Given the description of an element on the screen output the (x, y) to click on. 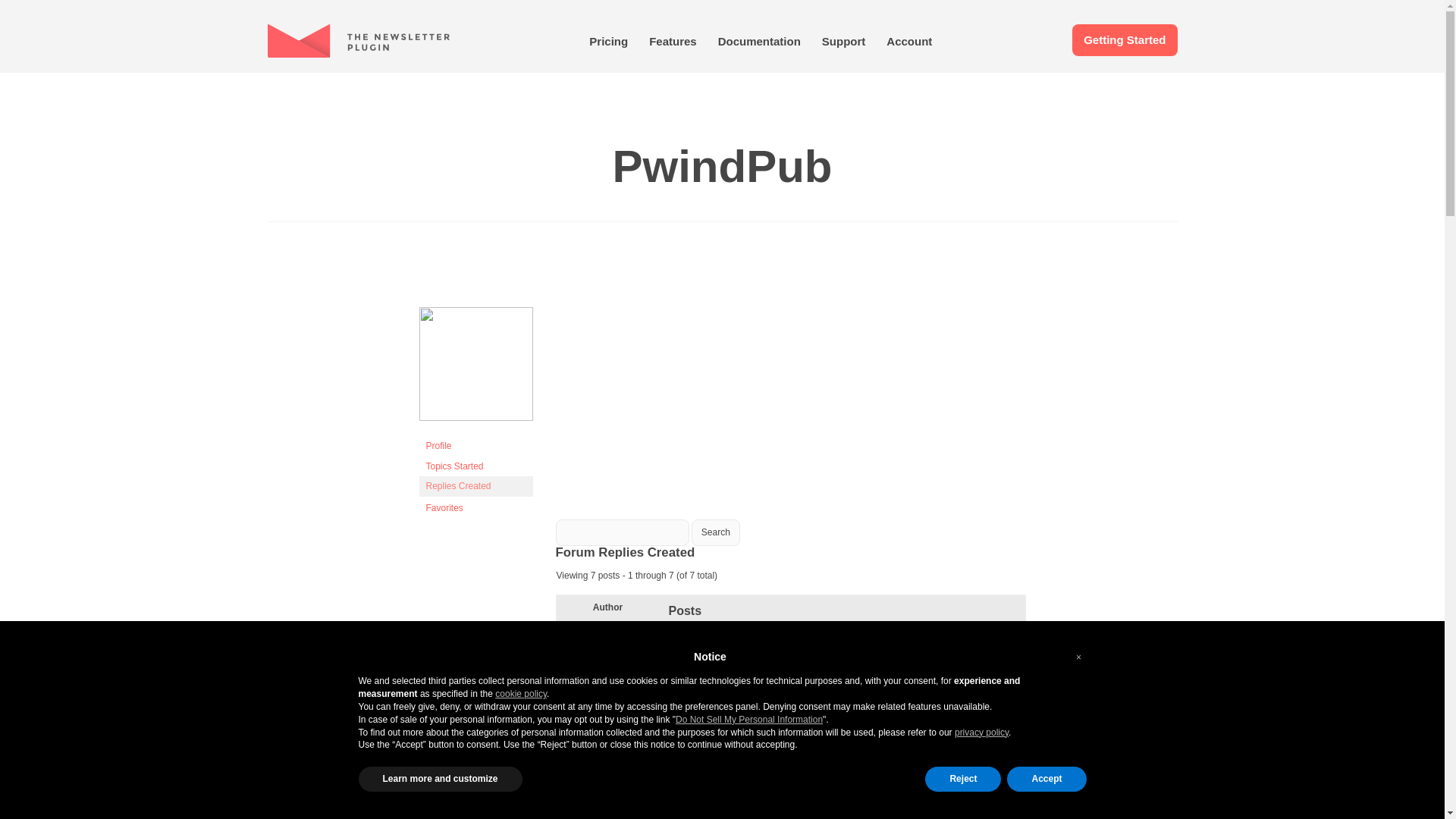
PwindPub (475, 417)
PwindPub's Profile (475, 445)
Topics Started (475, 465)
Features (673, 41)
PwindPub's Replies Created (475, 485)
Replies Created (475, 485)
Favorites (475, 507)
Getting Started (1123, 39)
Pricing (608, 41)
Documentation (758, 41)
